Given the description of an element on the screen output the (x, y) to click on. 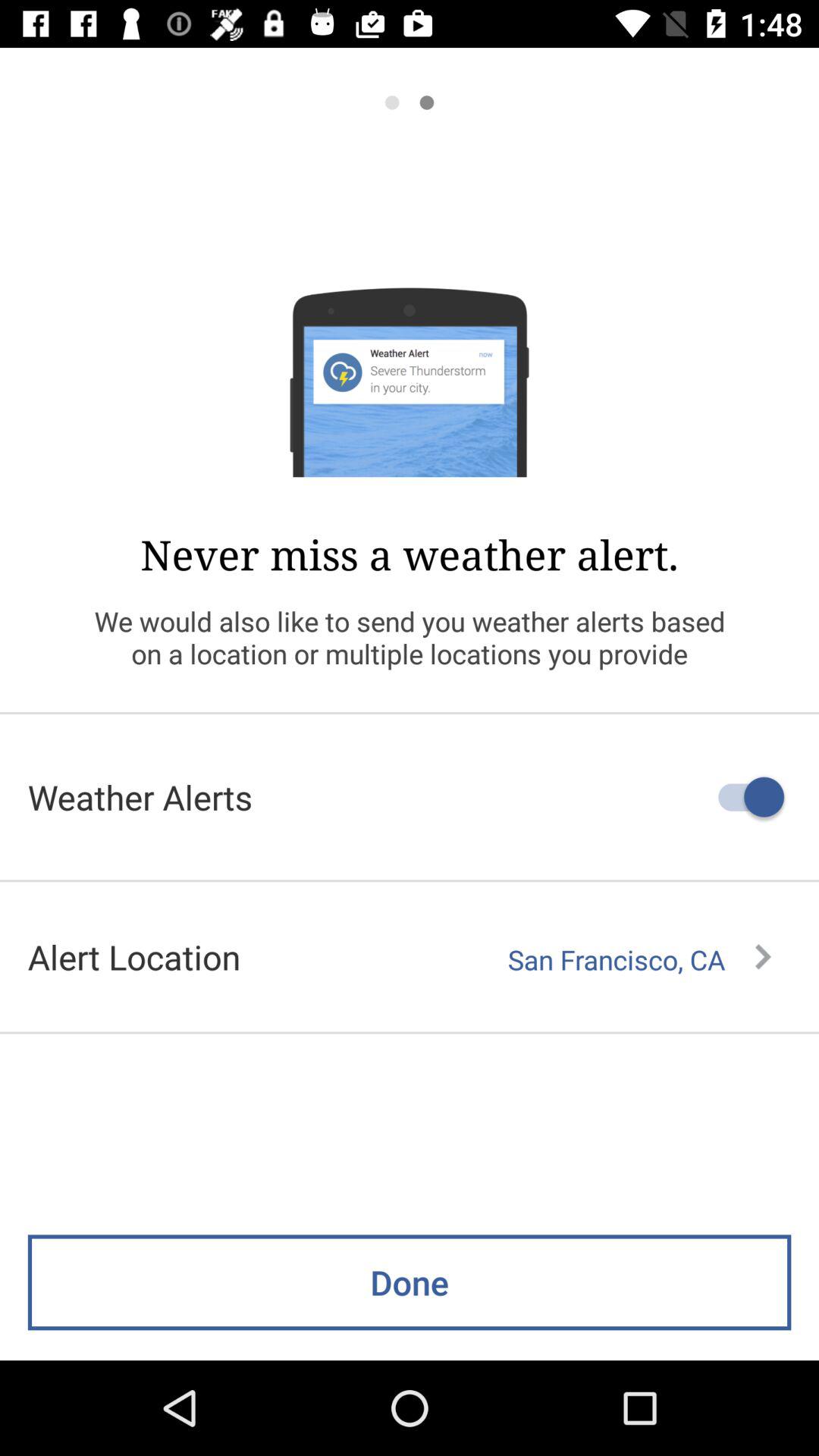
turn on the san francisco, ca item (639, 959)
